Given the description of an element on the screen output the (x, y) to click on. 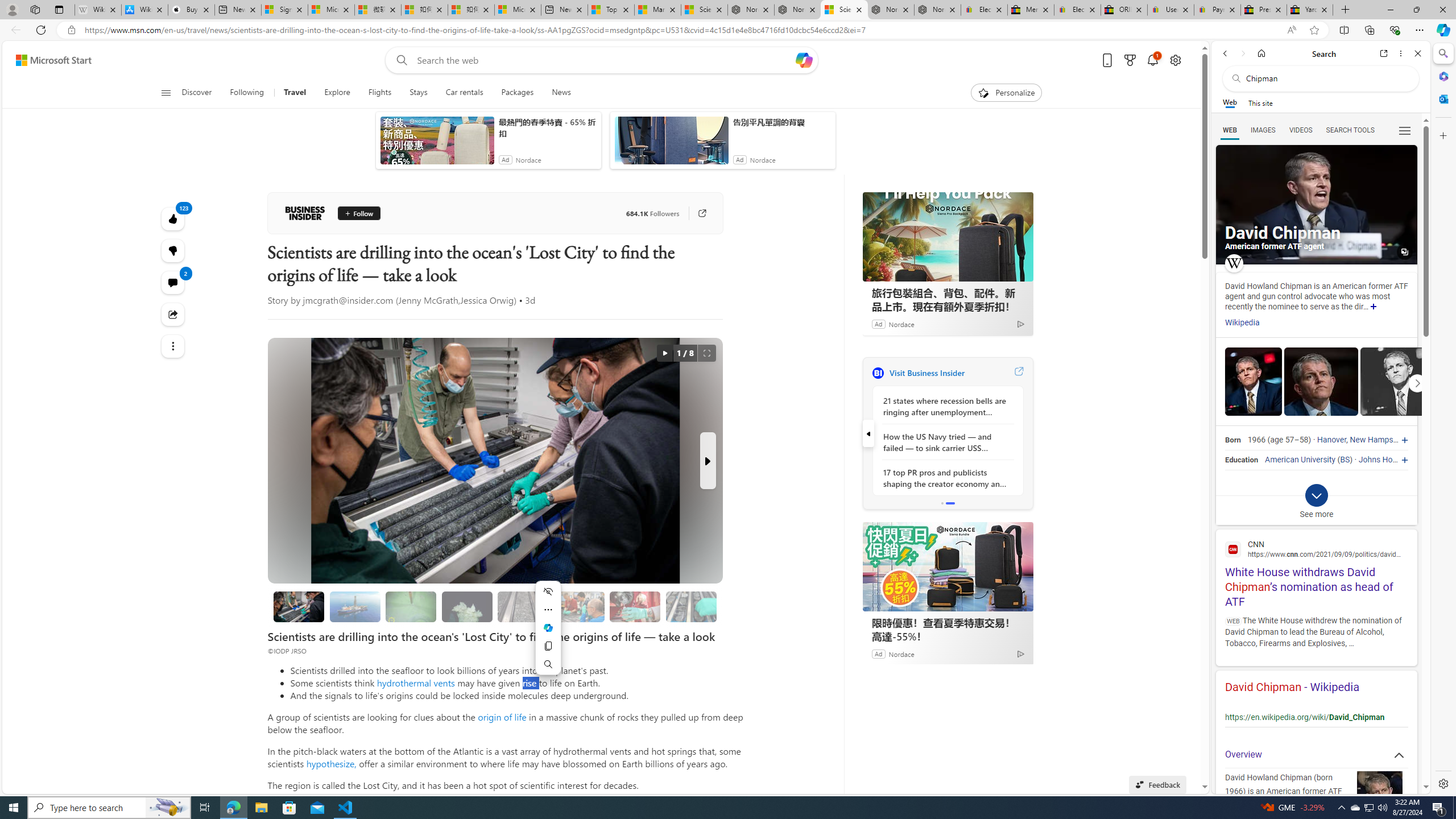
Class: b_exp_chevron_svg b_expmob_chev (1315, 495)
Overview (1315, 755)
Go to publisher's site (701, 213)
IMAGES (1262, 130)
Payments Terms of Use | eBay.com (1216, 9)
Microsoft account | Account Checkup (517, 9)
Sign in to your Microsoft account (284, 9)
Ask Copilot (547, 628)
BS (1344, 460)
